Given the description of an element on the screen output the (x, y) to click on. 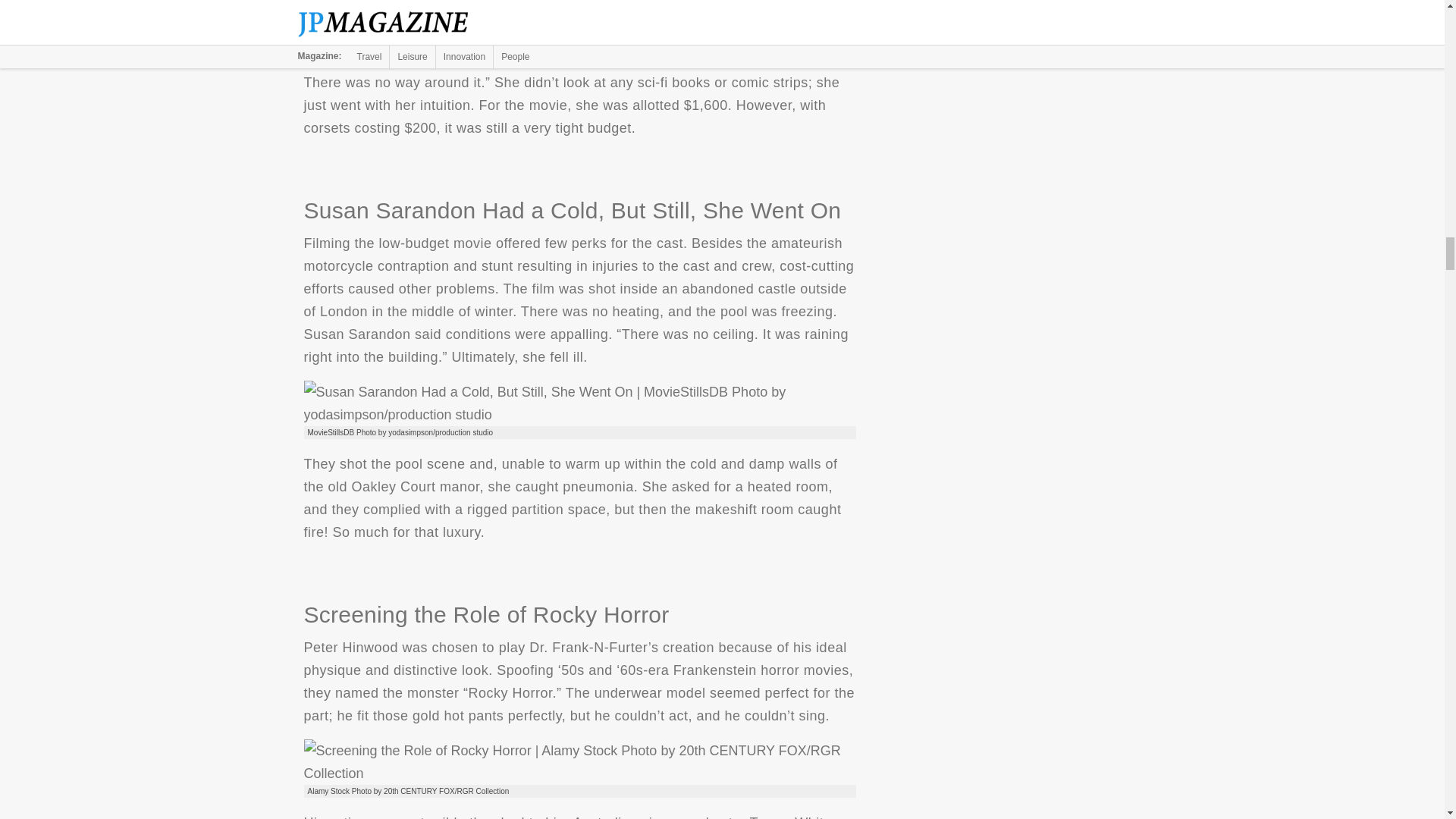
Screening the Role of Rocky Horror (579, 761)
Susan Sarandon Had a Cold, But Still, She Went On (579, 402)
